Given the description of an element on the screen output the (x, y) to click on. 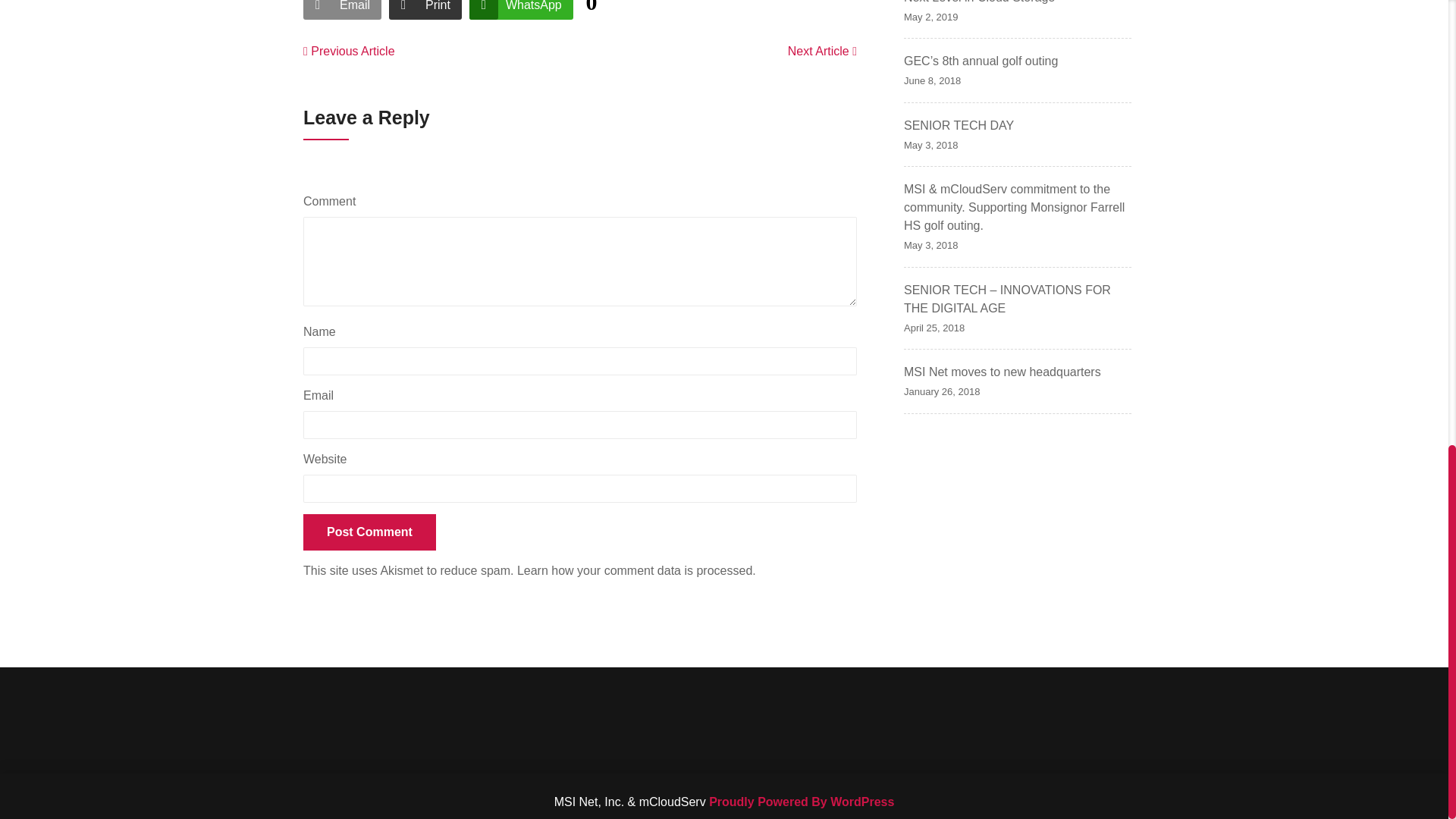
Post Comment (368, 532)
